Given the description of an element on the screen output the (x, y) to click on. 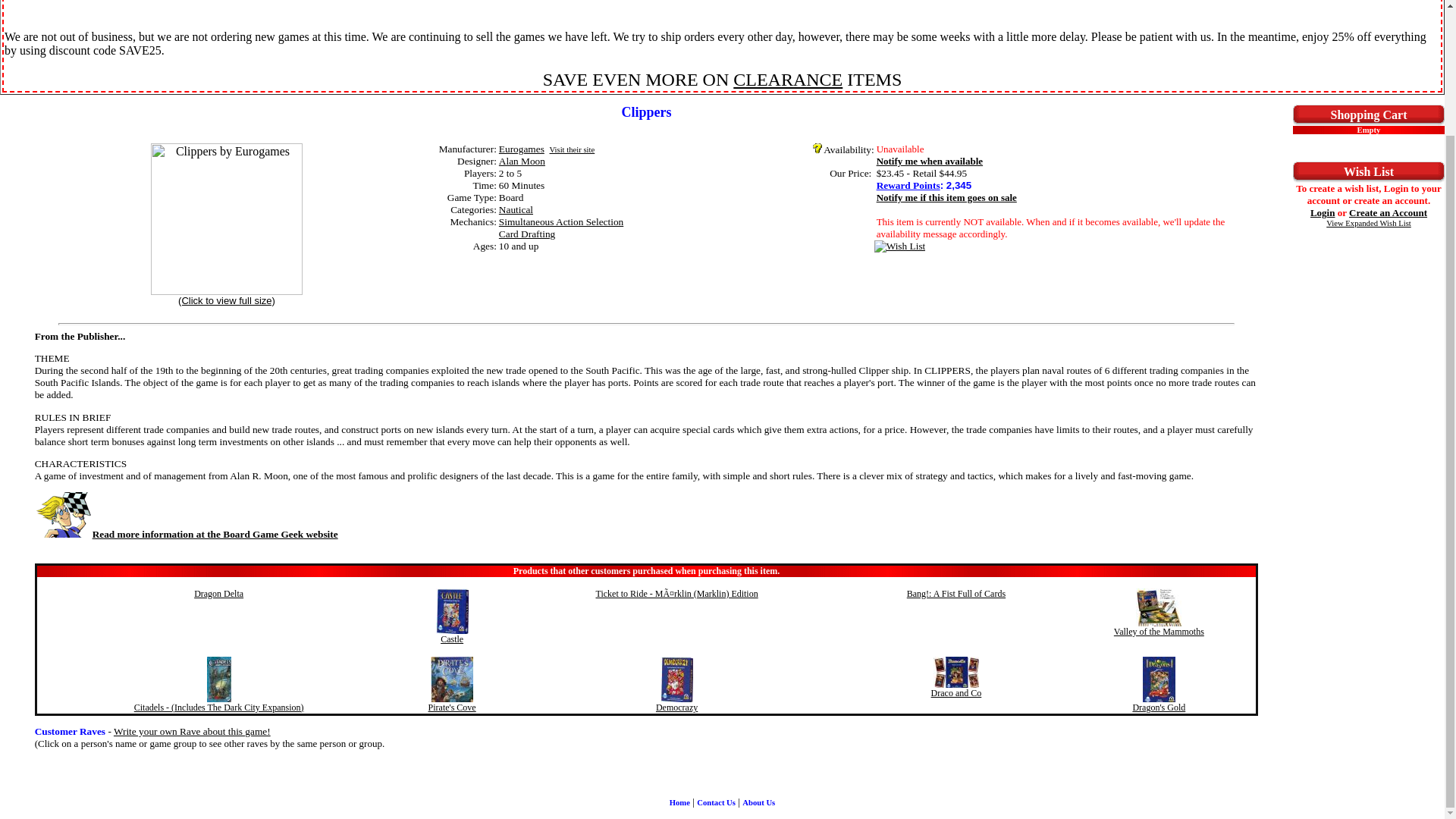
CLEARANCE (788, 79)
Visit their site (571, 149)
Eurogames (521, 148)
Nautical (515, 209)
Notify me if this item goes on sale (946, 197)
Reward Points (908, 184)
Card Drafting (526, 233)
Alan Moon (521, 161)
Read more information at the Board Game Geek website (185, 533)
Simultaneous Action Selection (561, 221)
Notify me when available (929, 161)
